Given the description of an element on the screen output the (x, y) to click on. 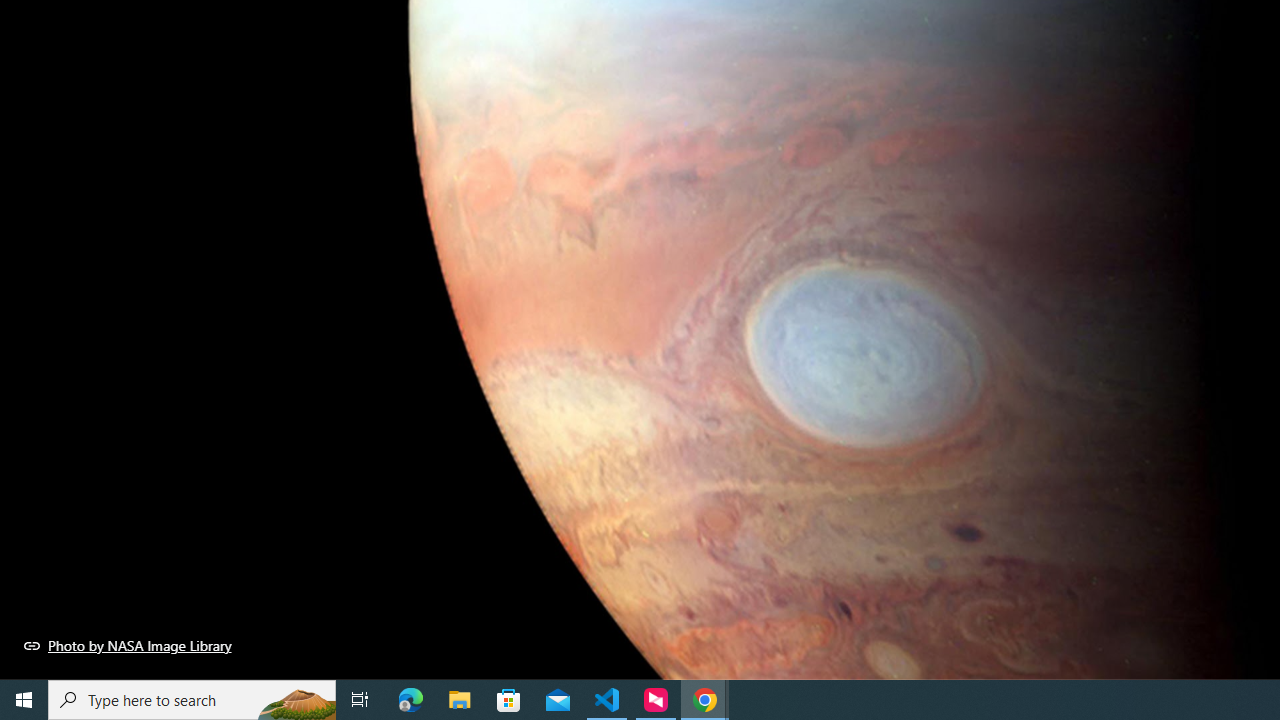
Photo by NASA Image Library (127, 645)
